Given the description of an element on the screen output the (x, y) to click on. 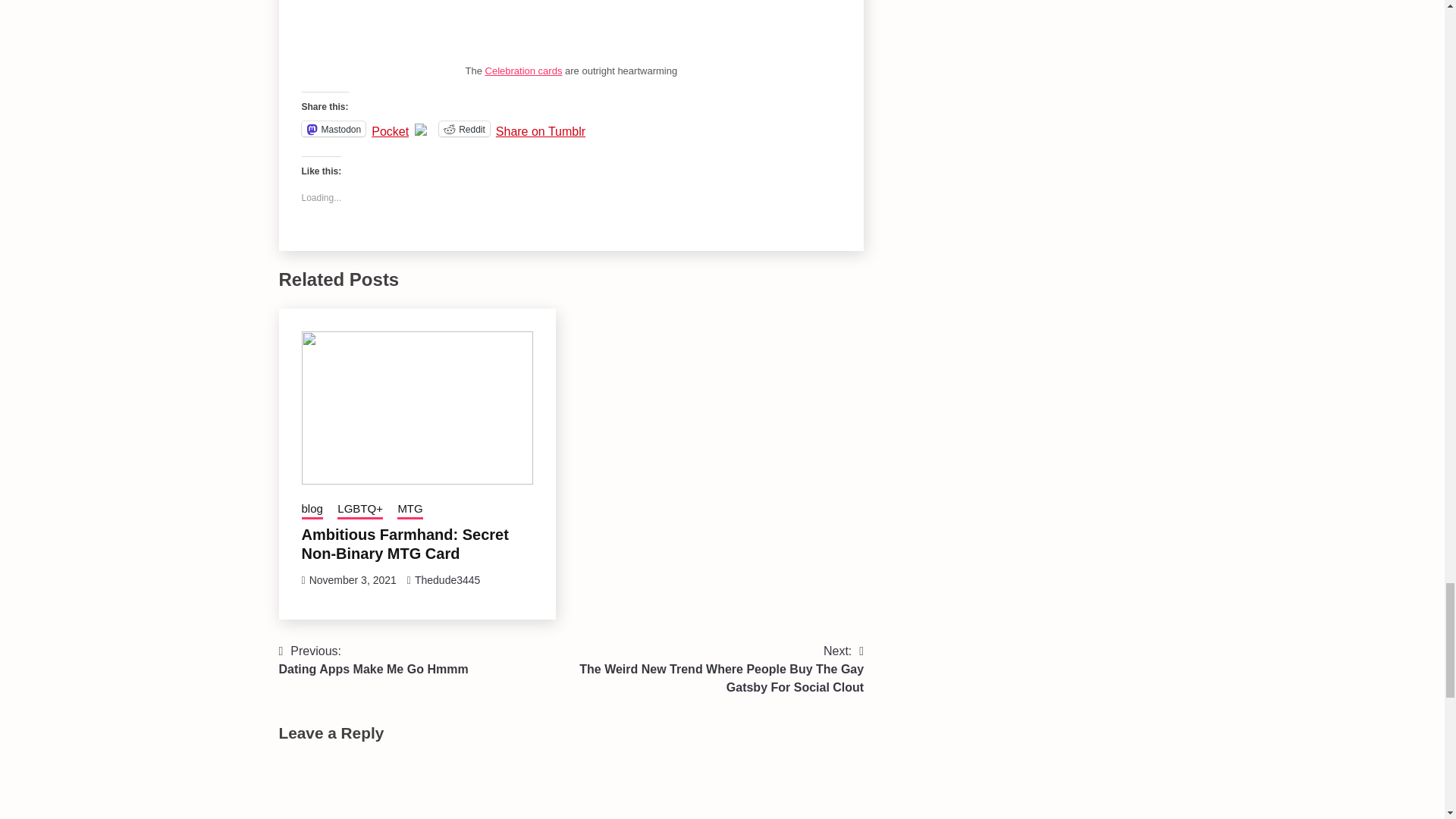
Click to share on Mastodon (333, 128)
Share on Tumblr (540, 128)
Comment Form (571, 785)
Click to share on Reddit (464, 128)
